Given the description of an element on the screen output the (x, y) to click on. 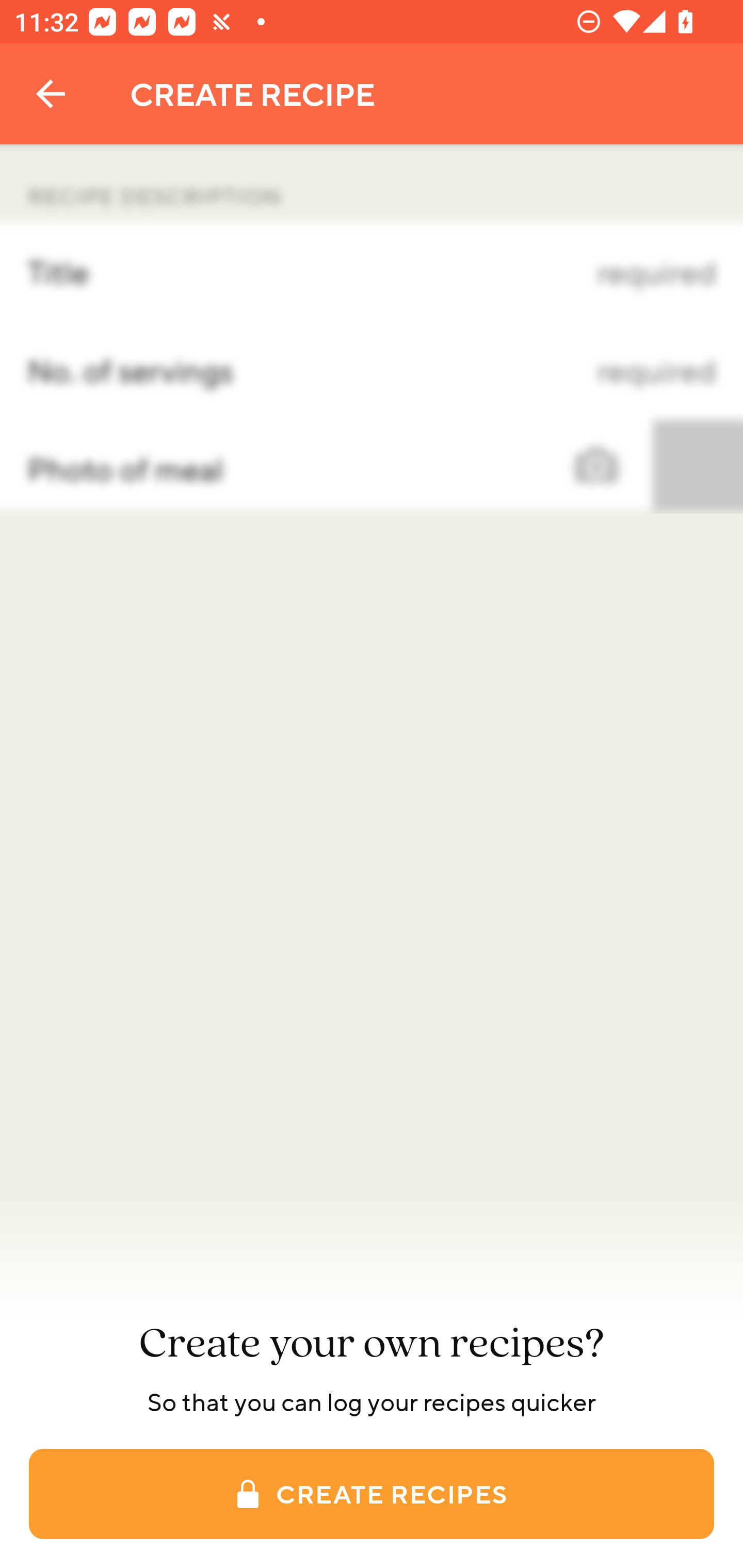
Navigate up (50, 93)
CREATE RECIPES (371, 1493)
